Given the description of an element on the screen output the (x, y) to click on. 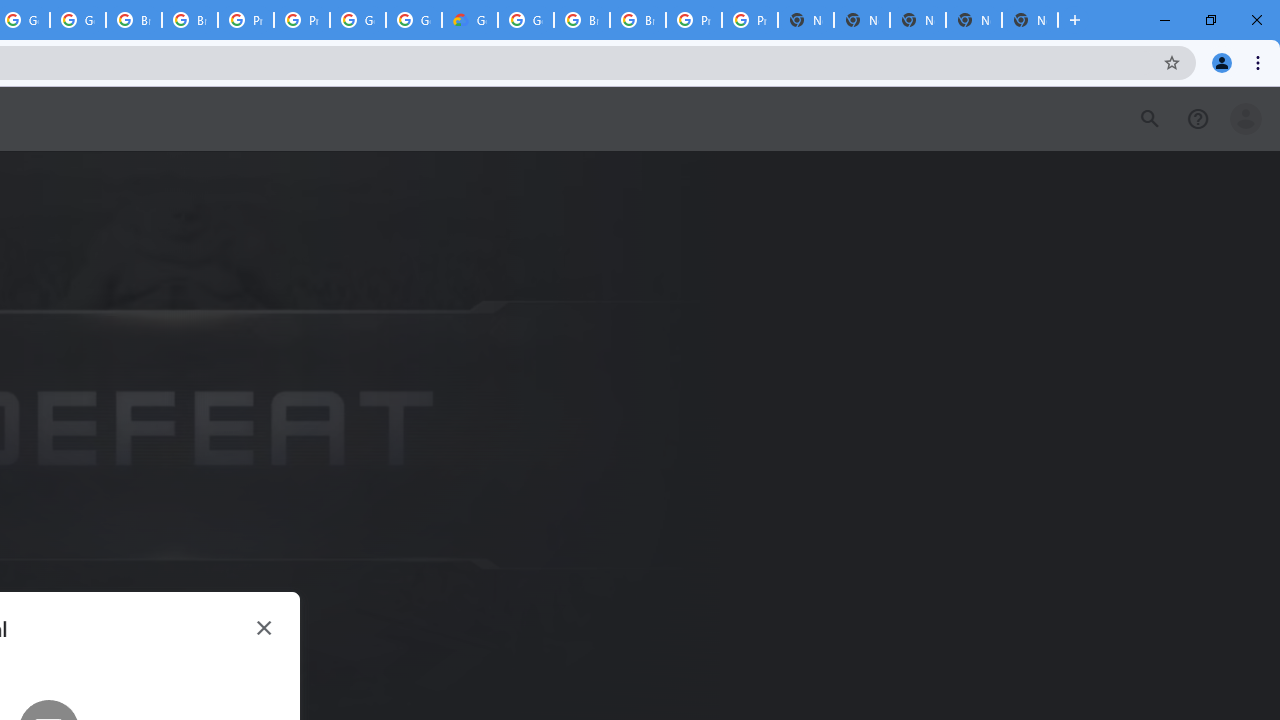
Google Cloud Platform (358, 20)
Google Cloud Platform (413, 20)
